Given the description of an element on the screen output the (x, y) to click on. 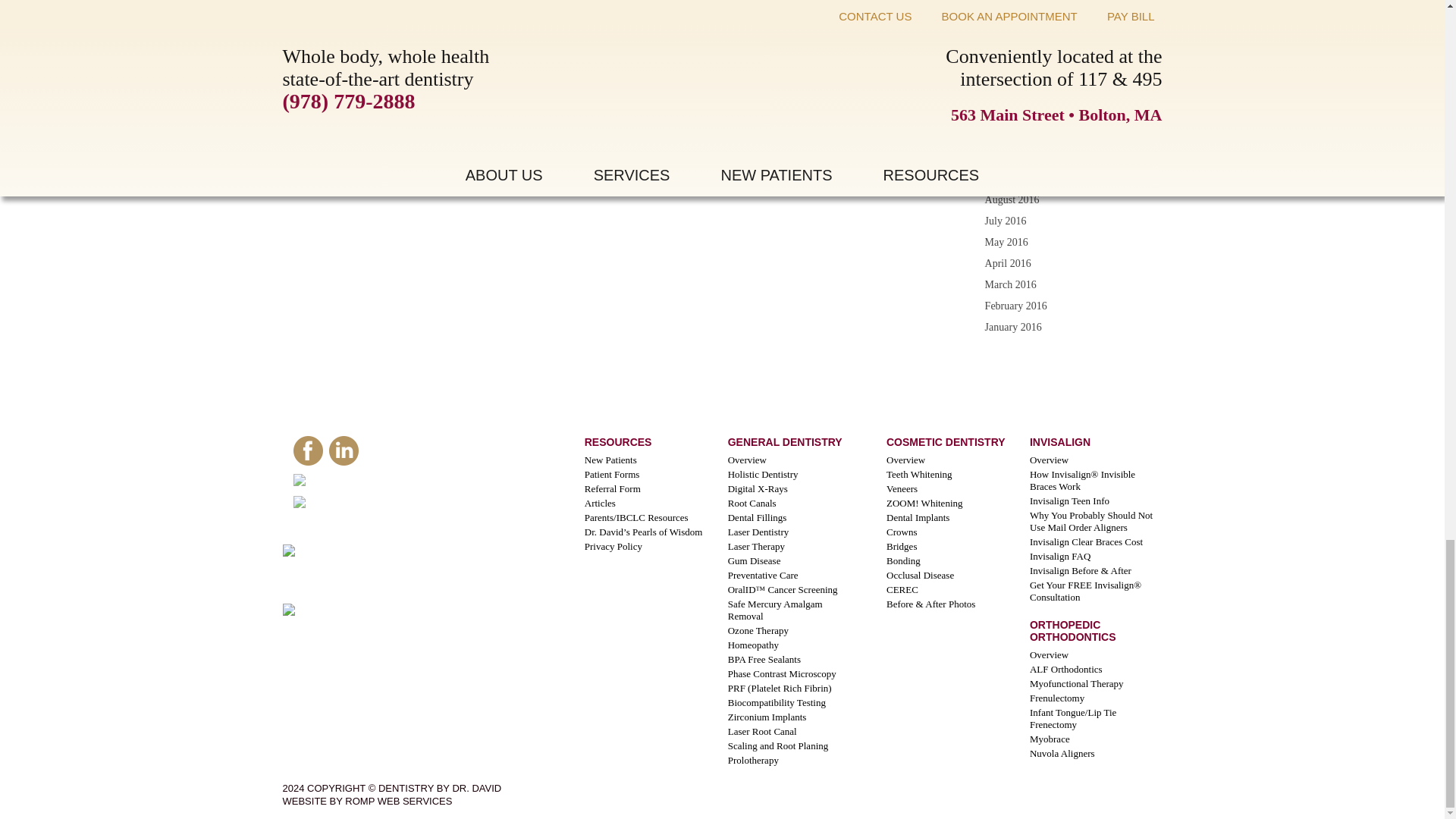
Dentistry by Dr. David on YouTube (395, 504)
Dentistry by Dr. David on Twitter (390, 482)
Dentistry by Dr. David on Facebook (306, 463)
Dentistry by Dr. David on LinkedIn (343, 463)
Spear seal for Amparo David (367, 612)
